Given the description of an element on the screen output the (x, y) to click on. 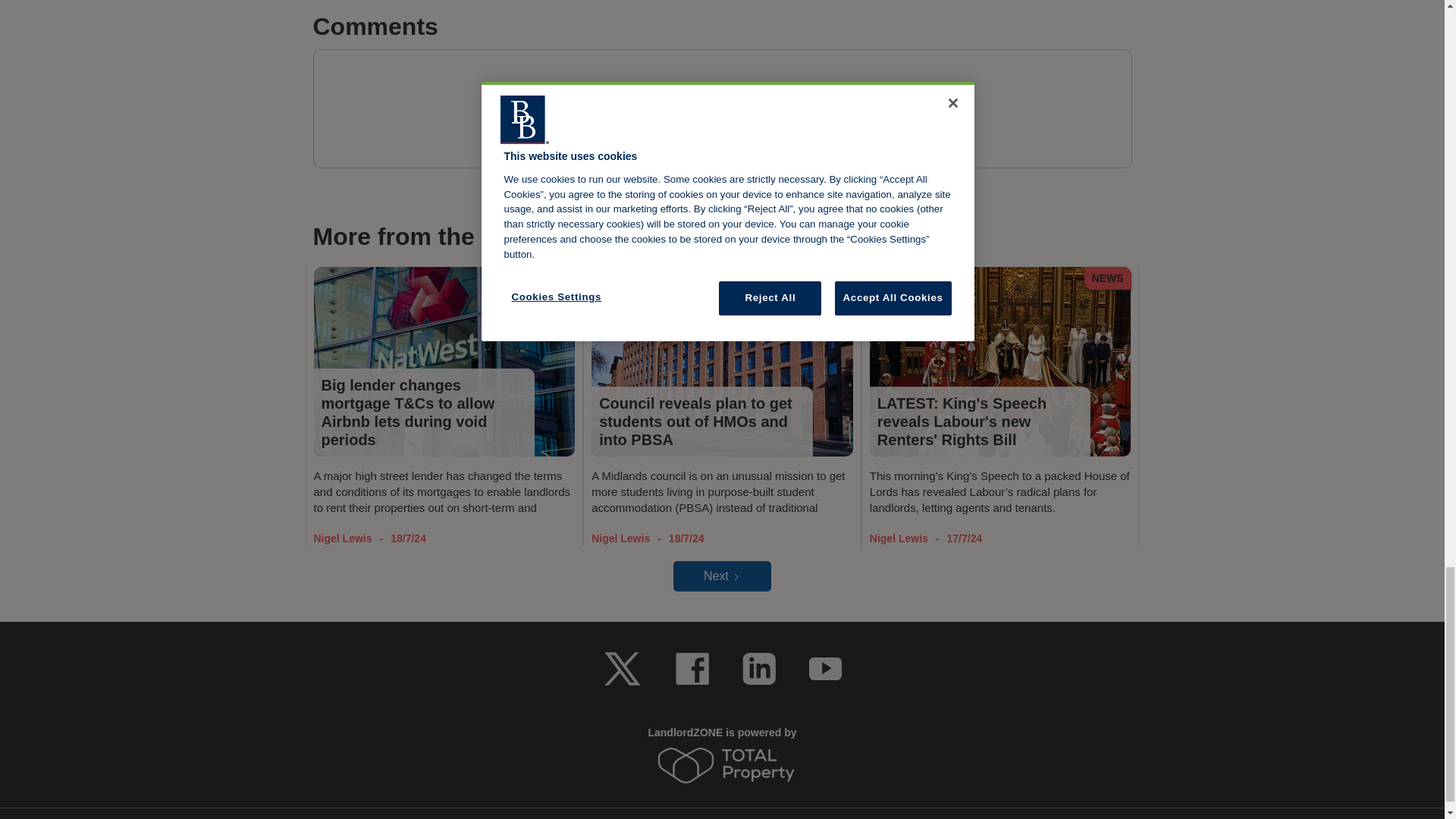
Next (721, 576)
